Given the description of an element on the screen output the (x, y) to click on. 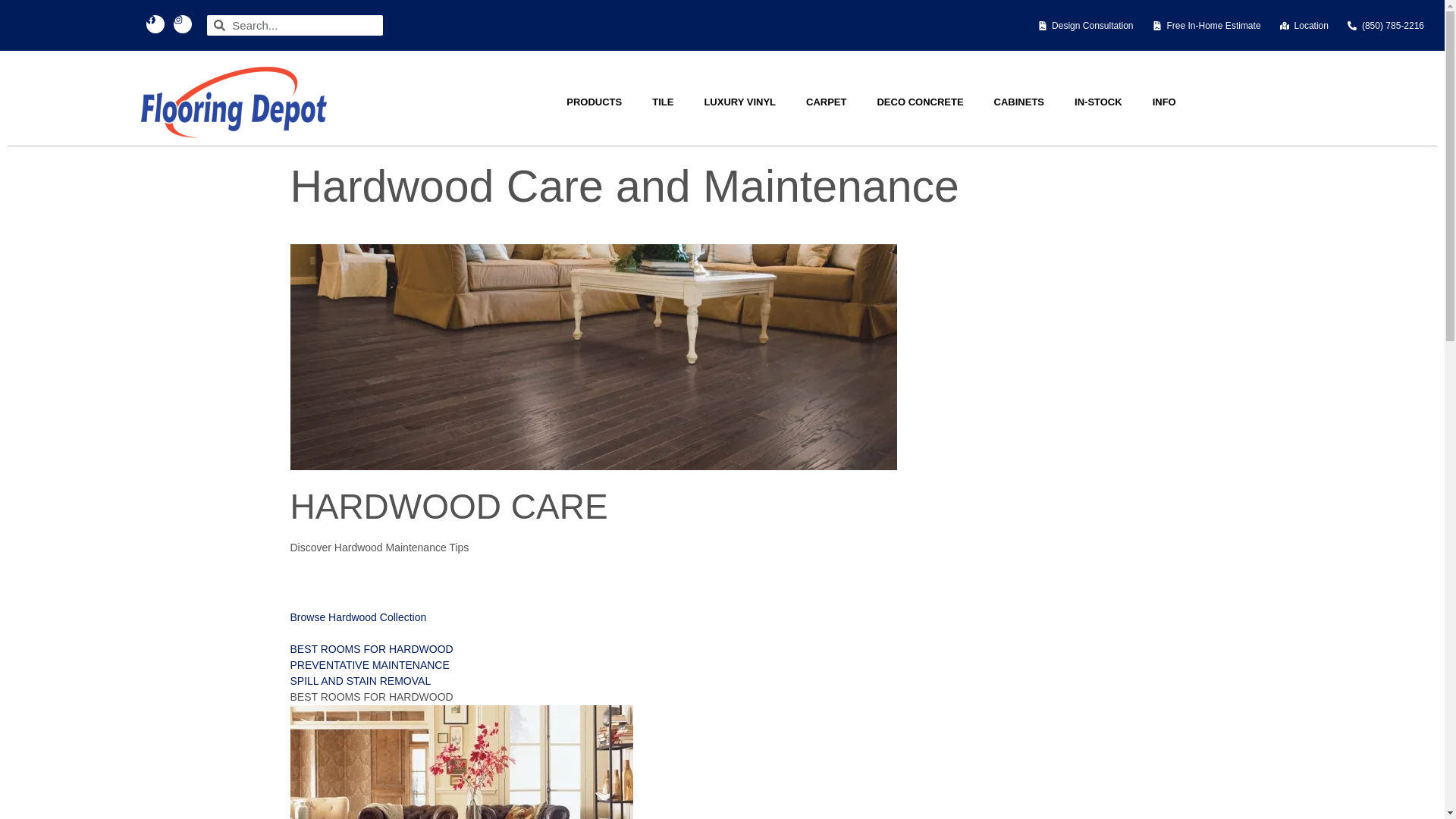
INFO (1164, 102)
PRODUCTS (594, 102)
Location (1303, 24)
CABINETS (1018, 102)
CARPET (825, 102)
DECO CONCRETE (919, 102)
LUXURY VINYL (739, 102)
Design Consultation (1084, 24)
IN-STOCK (1098, 102)
TILE (662, 102)
